Given the description of an element on the screen output the (x, y) to click on. 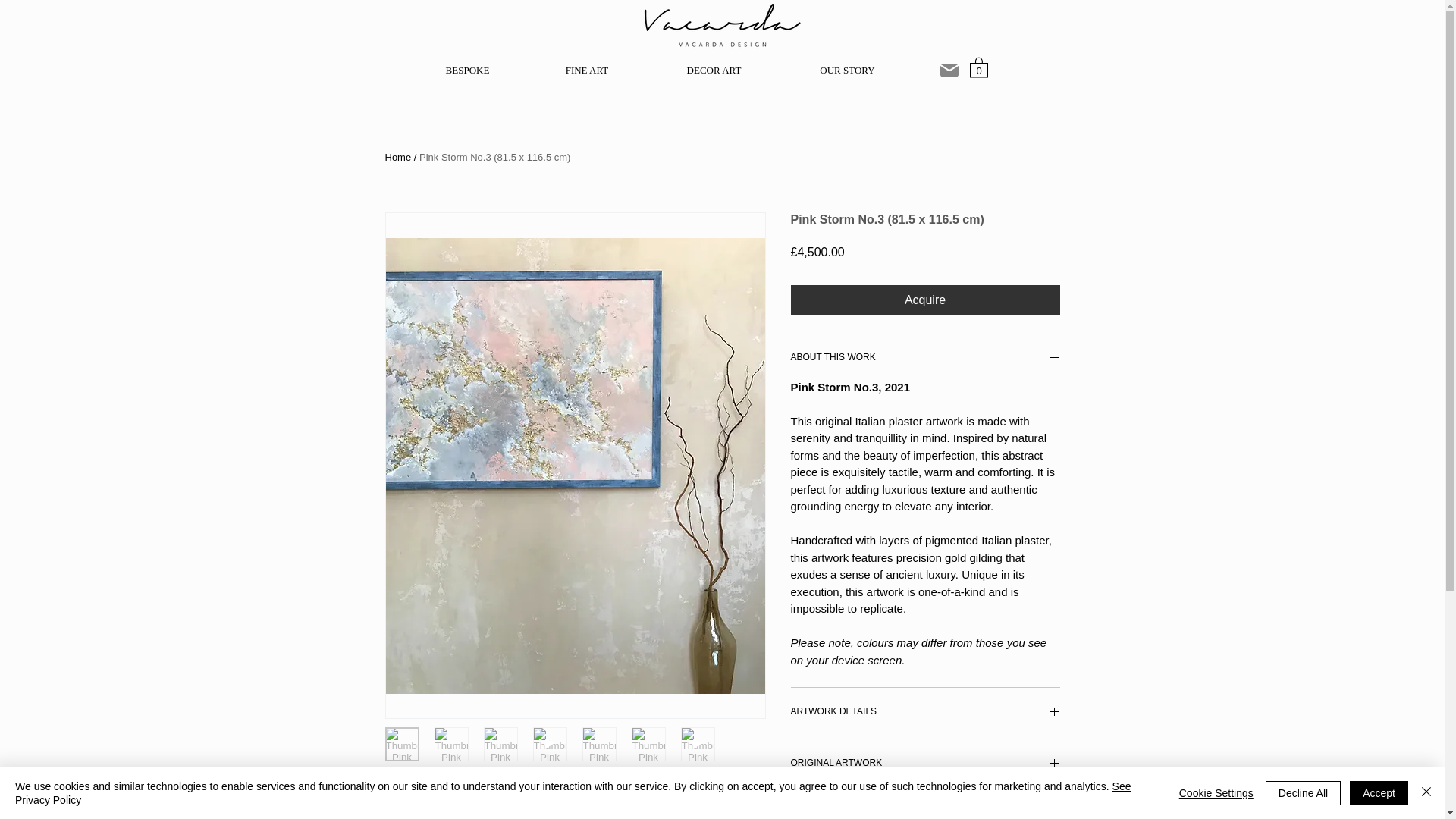
Decline All (1302, 793)
0 (978, 66)
DECOR ART (713, 70)
ORIGINAL ARTWORK (924, 764)
SHIPPING COSTS AND DELIVERY (924, 814)
FINE ART (585, 70)
ARTWORK DETAILS (924, 712)
BESPOKE (466, 70)
ABOUT THIS WORK (924, 359)
Accept (1378, 793)
Home (398, 156)
Acquire (924, 300)
0 (978, 66)
See Privacy Policy (572, 792)
